Given the description of an element on the screen output the (x, y) to click on. 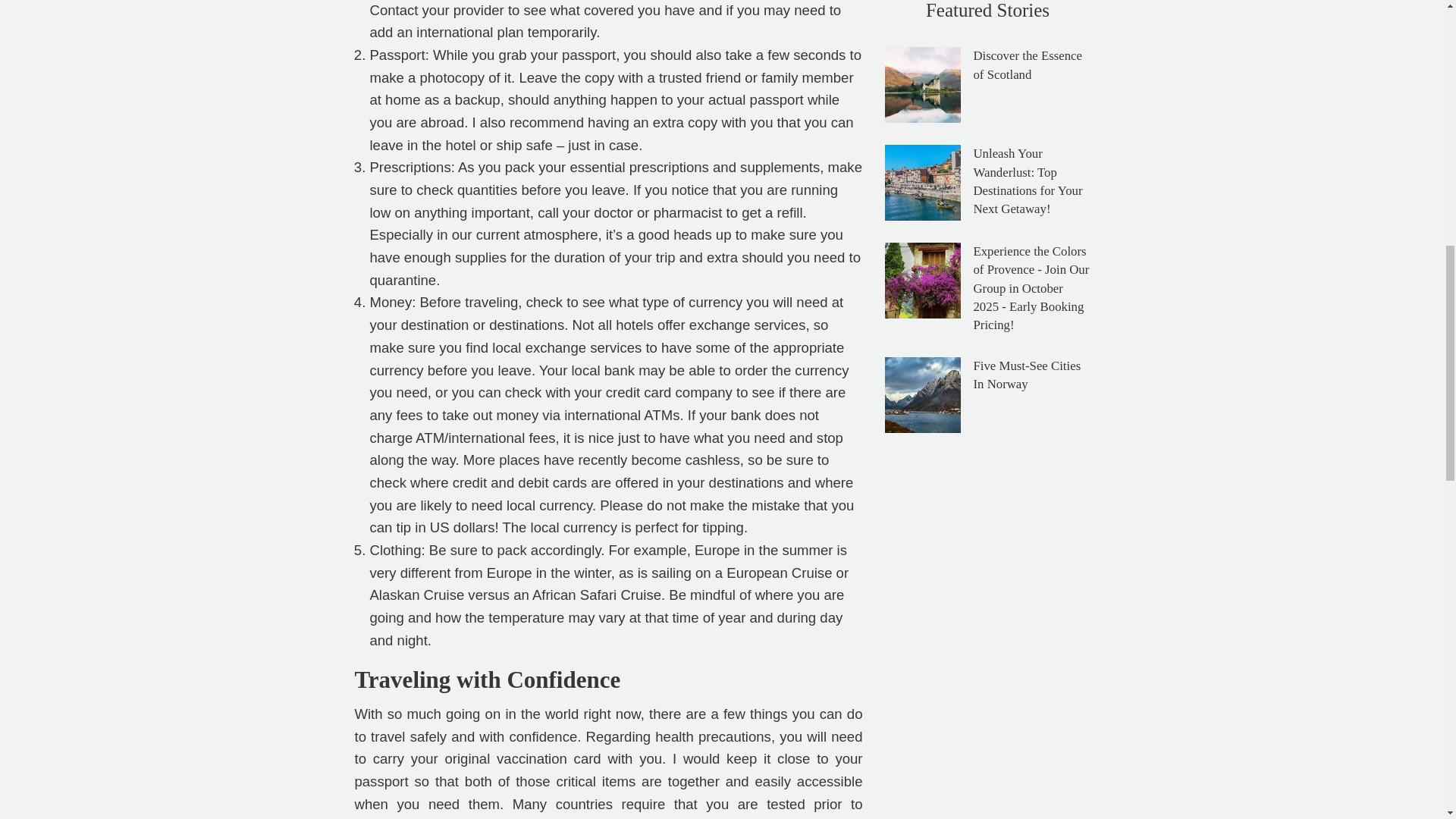
Discover the Essence of Scotland (1026, 64)
